Given the description of an element on the screen output the (x, y) to click on. 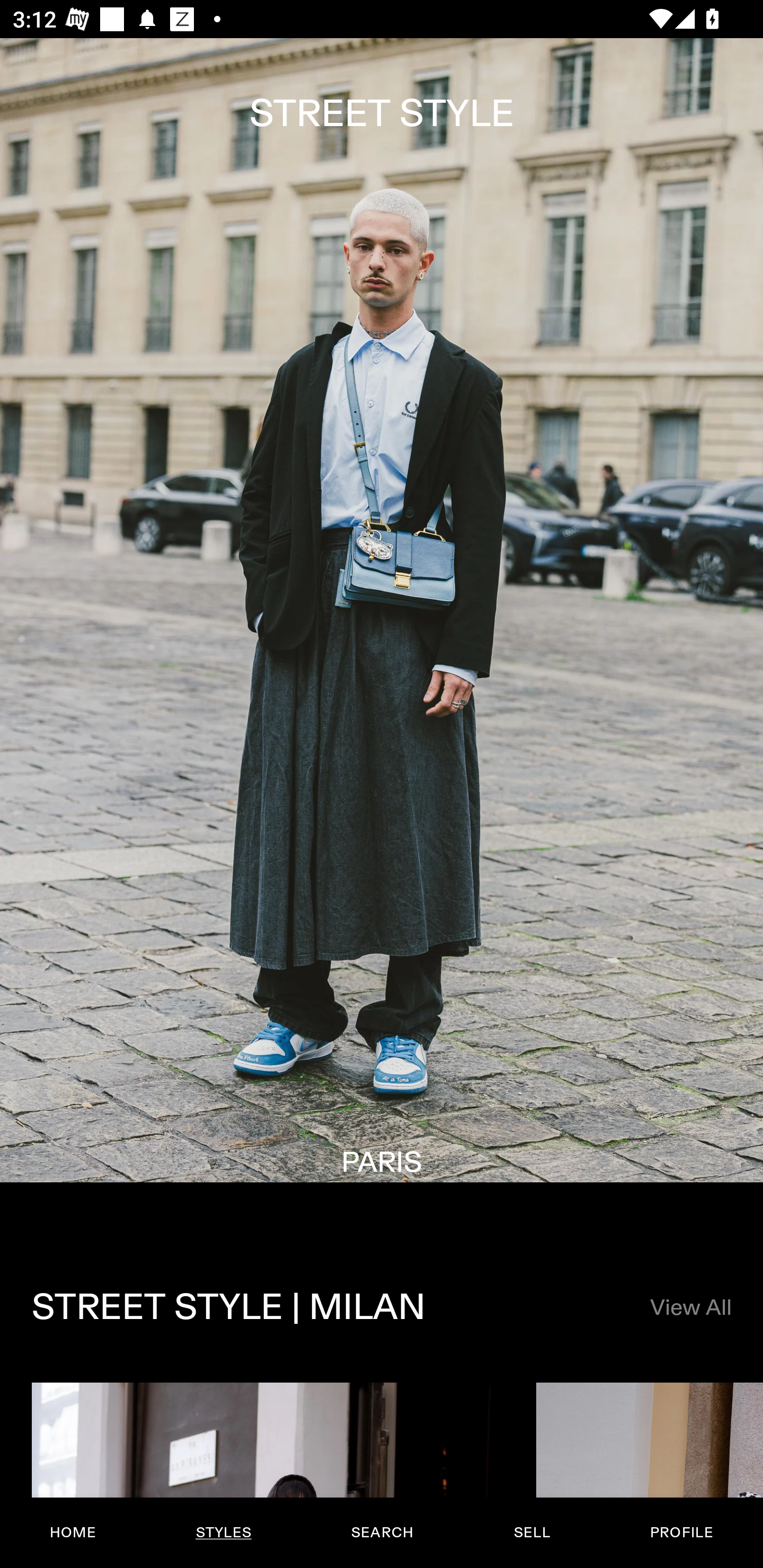
View All (690, 1308)
HOME (72, 1532)
STYLES (222, 1532)
SEARCH (381, 1532)
SELL (531, 1532)
PROFILE (681, 1532)
